Given the description of an element on the screen output the (x, y) to click on. 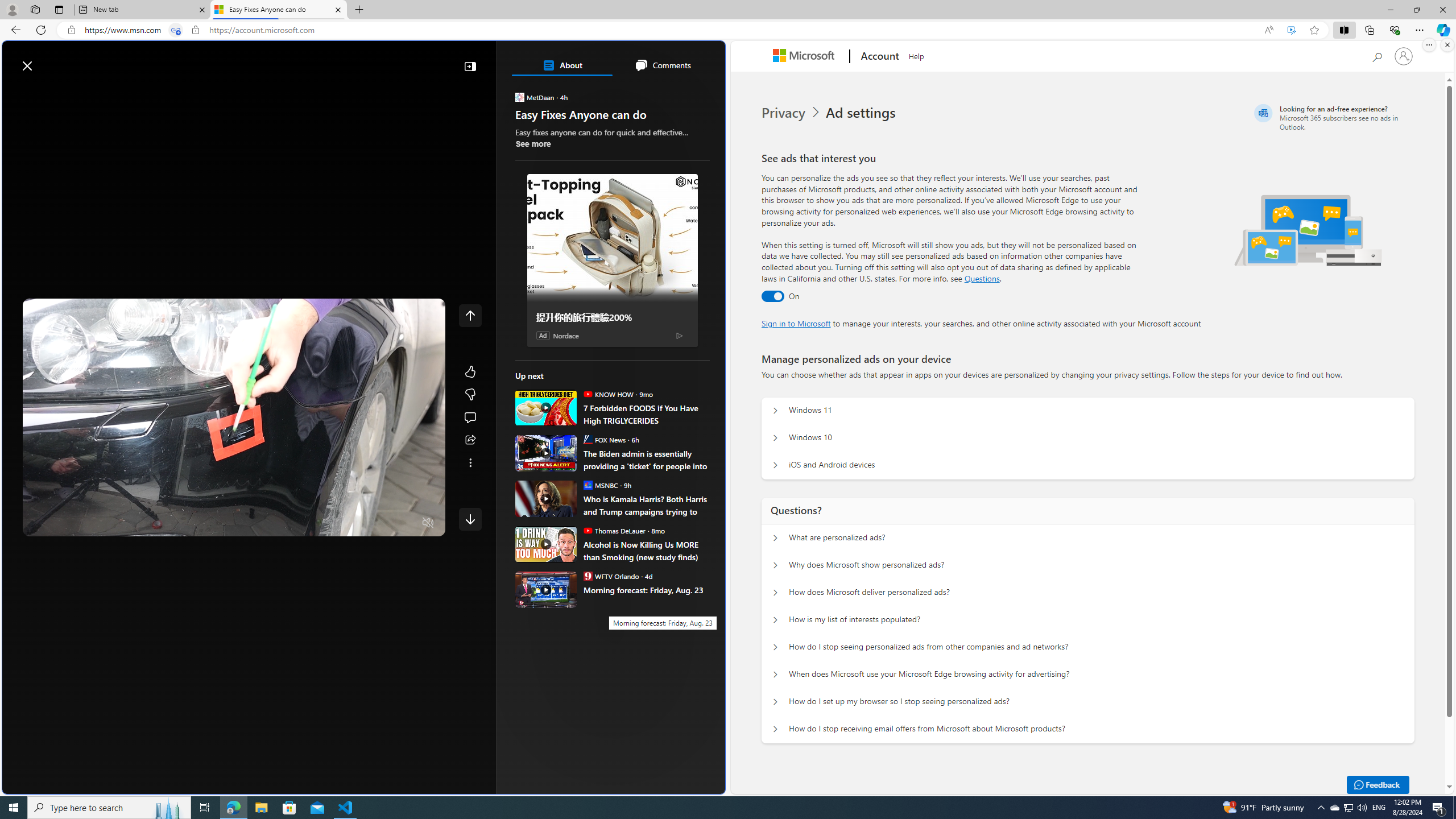
Seek Back (62, 523)
7 Forbidden FOODS if You Have High TRIGLYCERIDES (646, 414)
Summer Sale! Up to -55% (616, 515)
Open settings (699, 60)
Class: control (469, 518)
Ad settings toggle (772, 296)
Class: control icon-only (469, 315)
Manage personalized ads on your device Windows 10 (775, 437)
The Associated Press (554, 366)
